Given the description of an element on the screen output the (x, y) to click on. 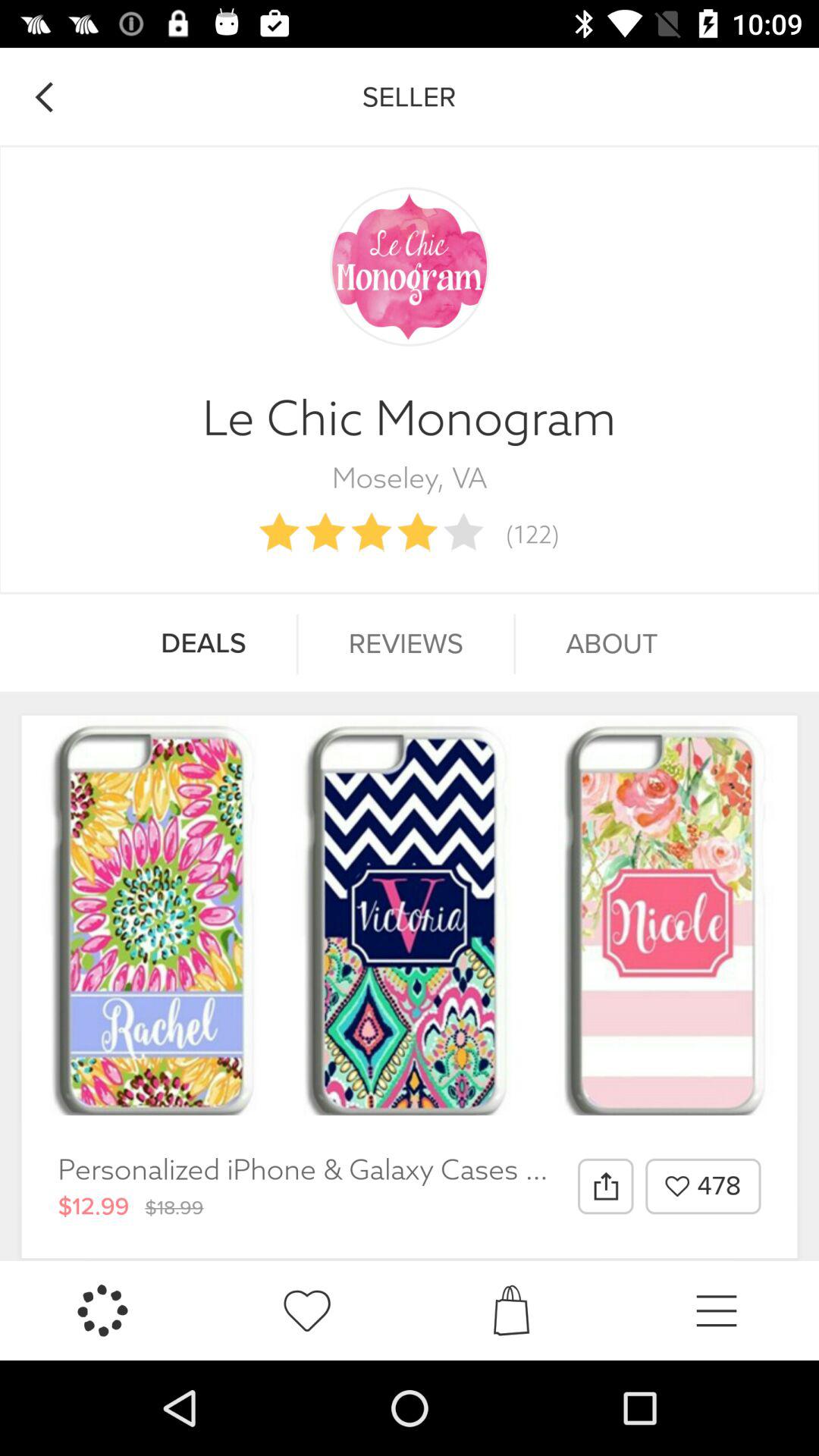
click the icon to the left of 478 item (605, 1186)
